Given the description of an element on the screen output the (x, y) to click on. 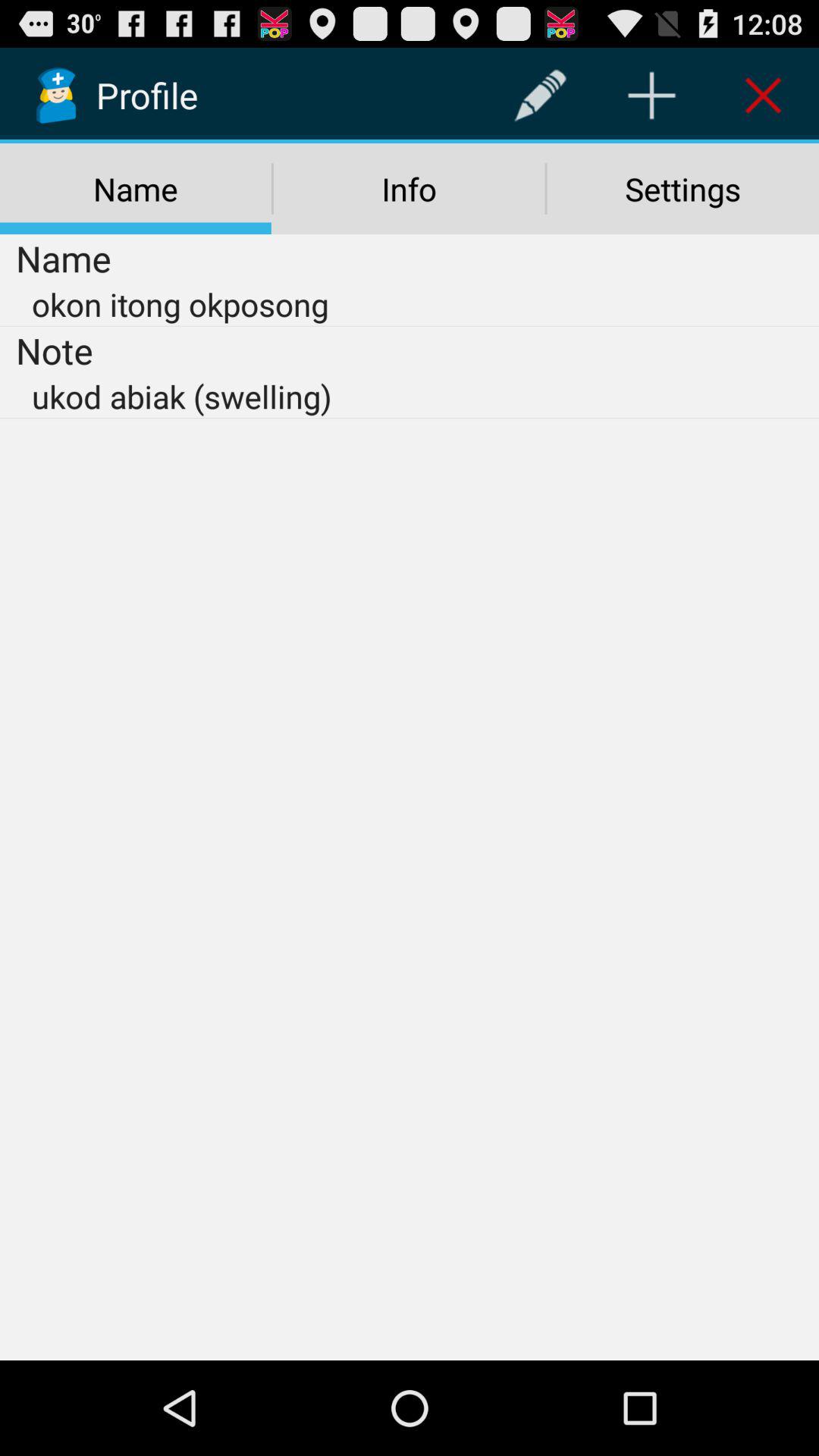
launch the item to the right of info icon (683, 188)
